Given the description of an element on the screen output the (x, y) to click on. 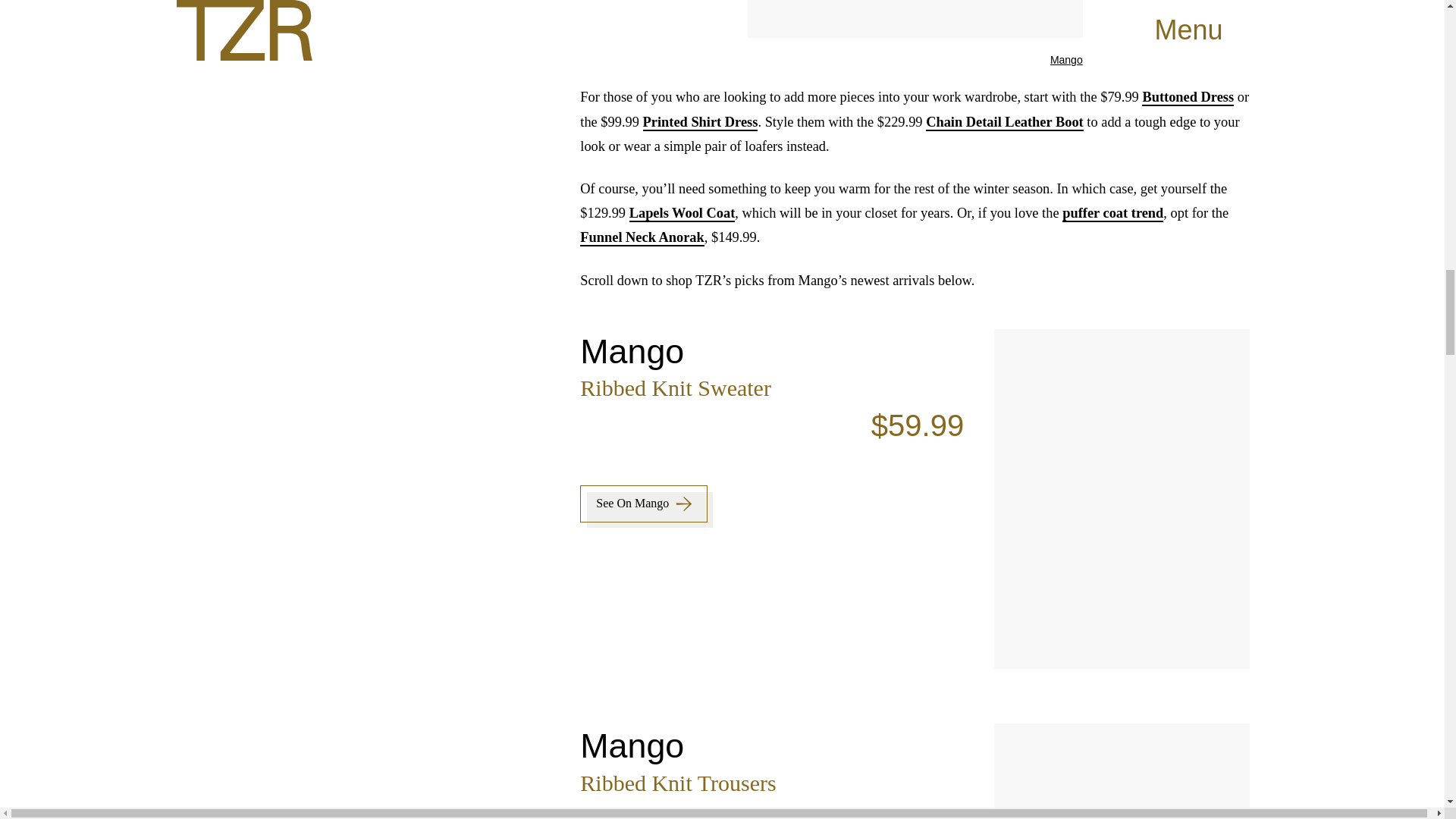
Printed Shirt Dress (700, 121)
Buttoned Dress (1187, 97)
See On Mango (643, 503)
puffer coat trend (1112, 213)
Lapels Wool Coat (681, 213)
Mango (1066, 60)
Funnel Neck Anorak (641, 238)
Chain Detail Leather Boot (1004, 121)
